Given the description of an element on the screen output the (x, y) to click on. 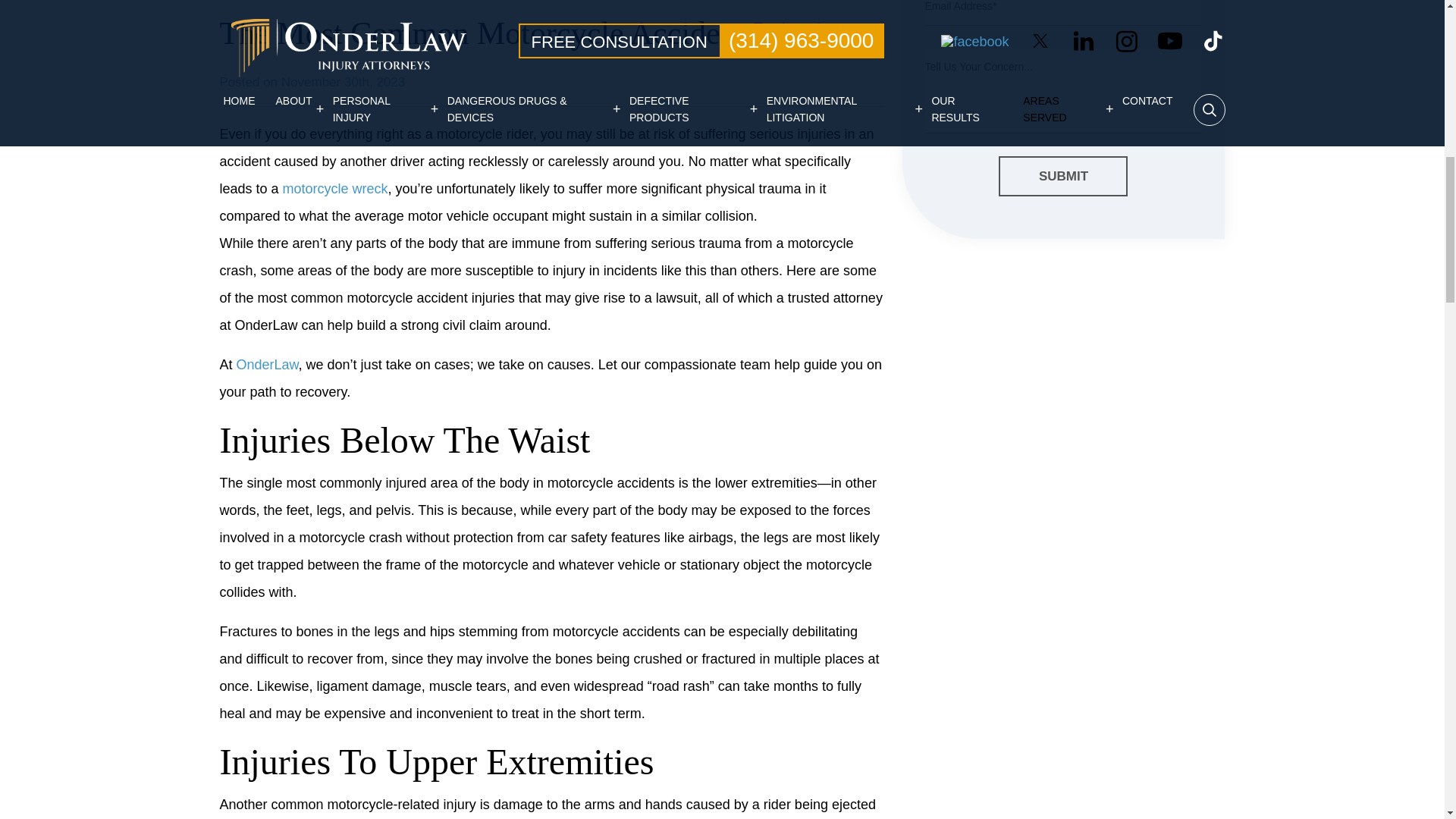
Submit (1062, 176)
